Given the description of an element on the screen output the (x, y) to click on. 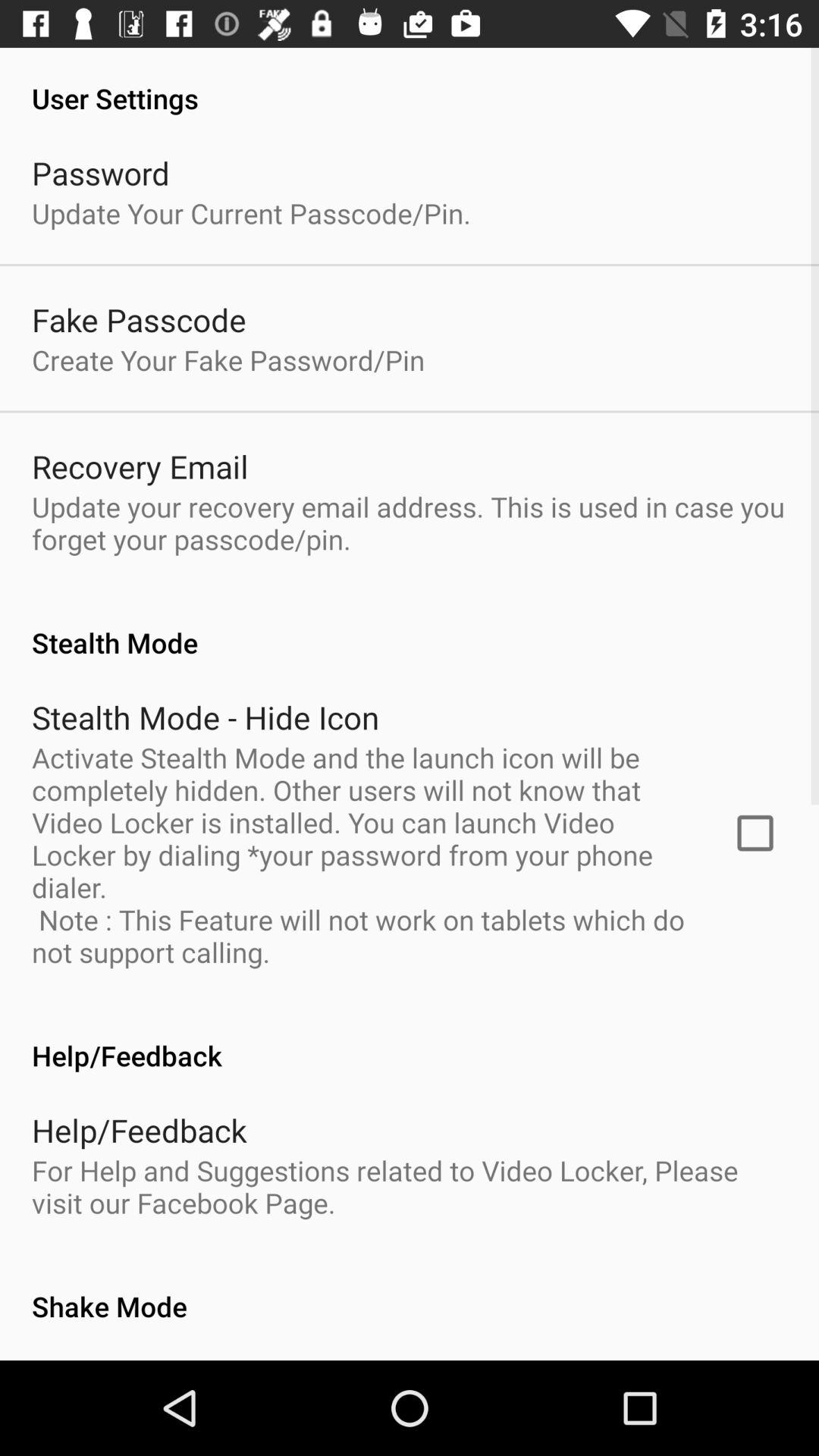
click the for help and item (409, 1186)
